Given the description of an element on the screen output the (x, y) to click on. 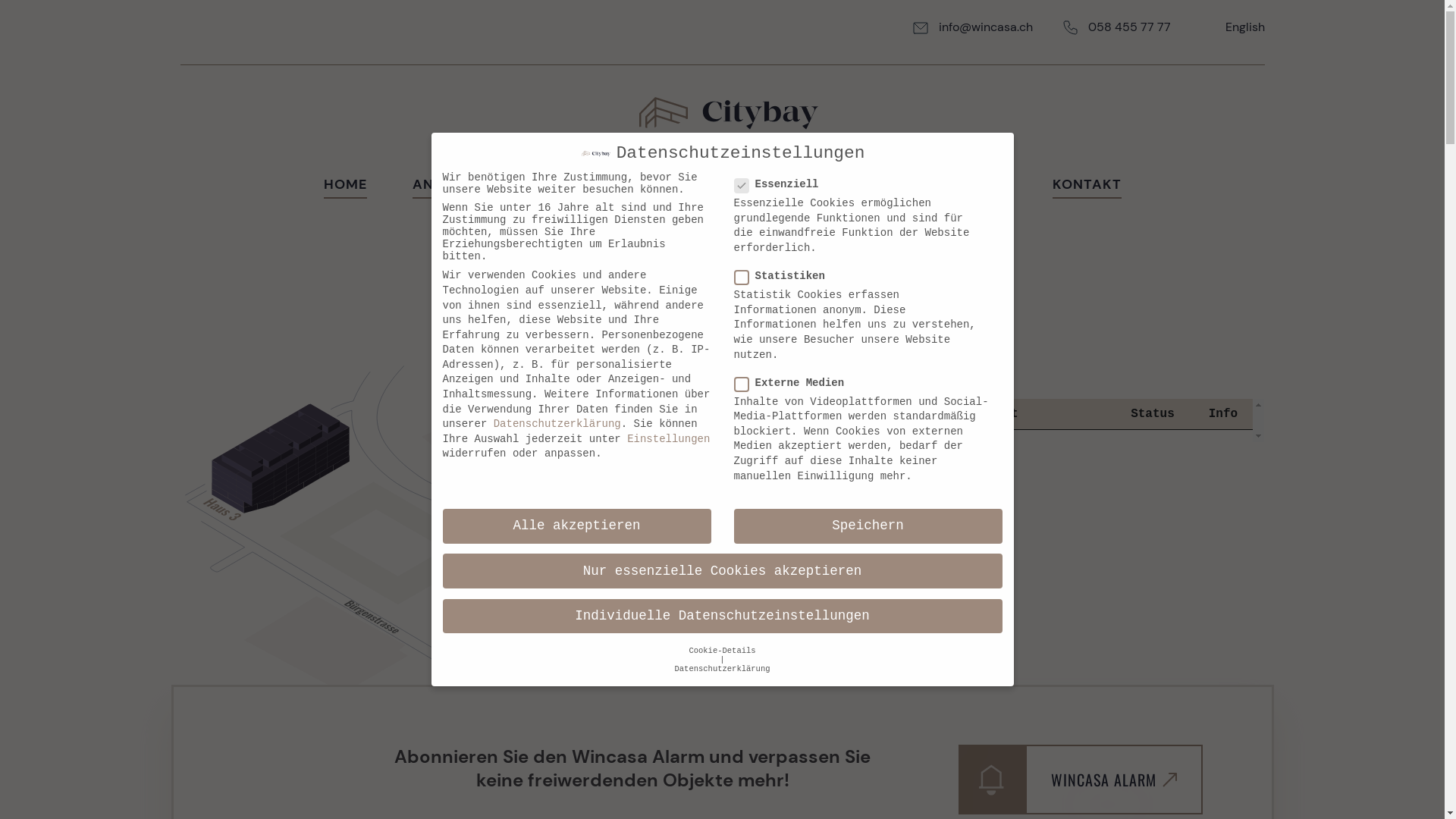
Einstellungen Element type: text (668, 439)
Alle akzeptieren Element type: text (576, 525)
WINCASA ALARM Element type: text (1080, 779)
Cookie-Details Element type: text (721, 650)
Speichern Element type: text (868, 525)
Individuelle Datenschutzeinstellungen Element type: text (722, 616)
WARUM CITYBAY Element type: text (588, 186)
ANGEBOT Element type: text (447, 186)
058 455 77 77 Element type: text (1128, 26)
Nur essenzielle Cookies akzeptieren Element type: text (722, 570)
info@wincasa.ch Element type: text (985, 26)
English Element type: text (1244, 26)
KONTAKT Element type: text (1086, 186)
HOME Element type: text (344, 186)
GALERIE Element type: text (976, 186)
